Given the description of an element on the screen output the (x, y) to click on. 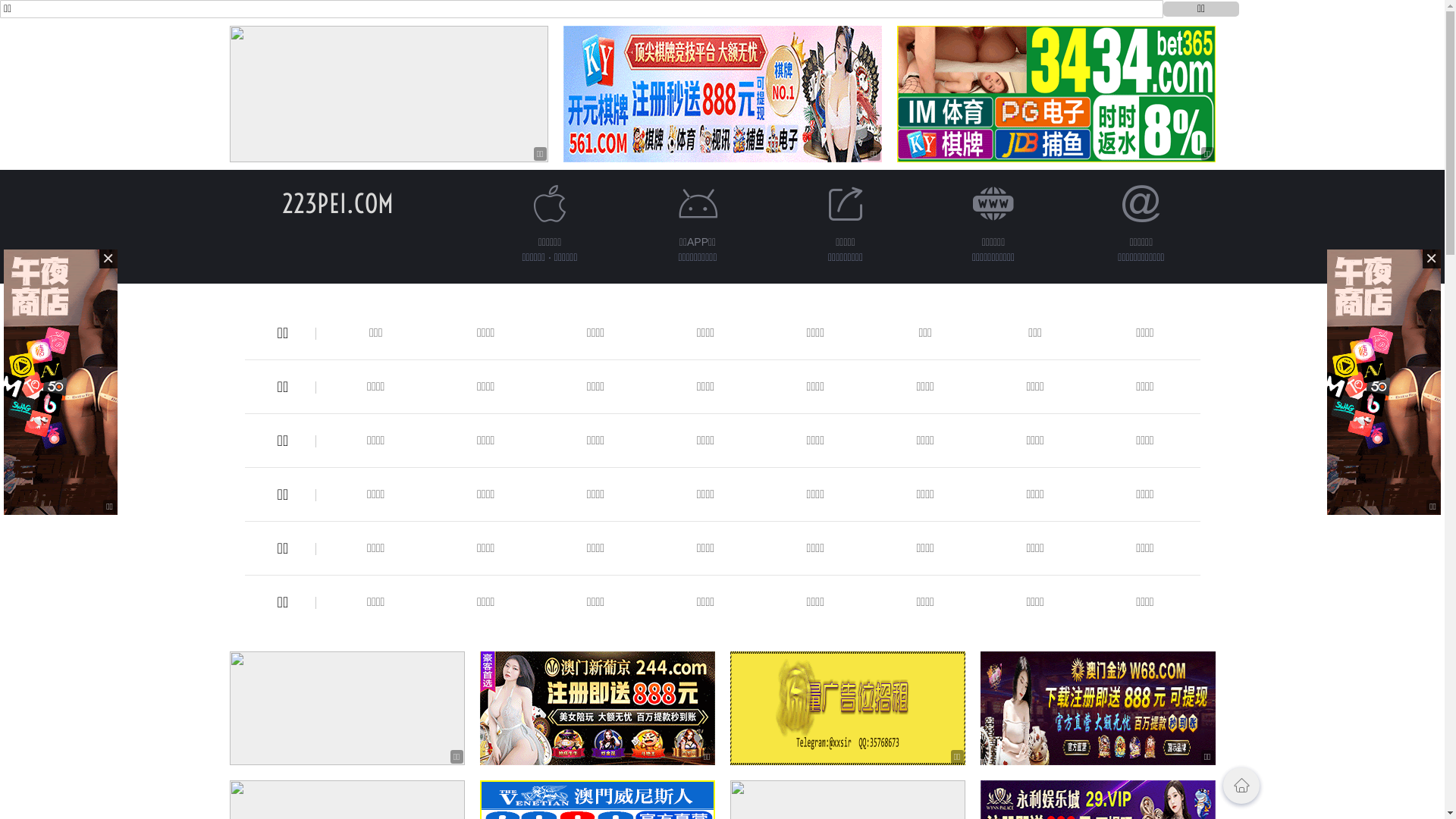
223PEI.COM Element type: text (337, 203)
